Given the description of an element on the screen output the (x, y) to click on. 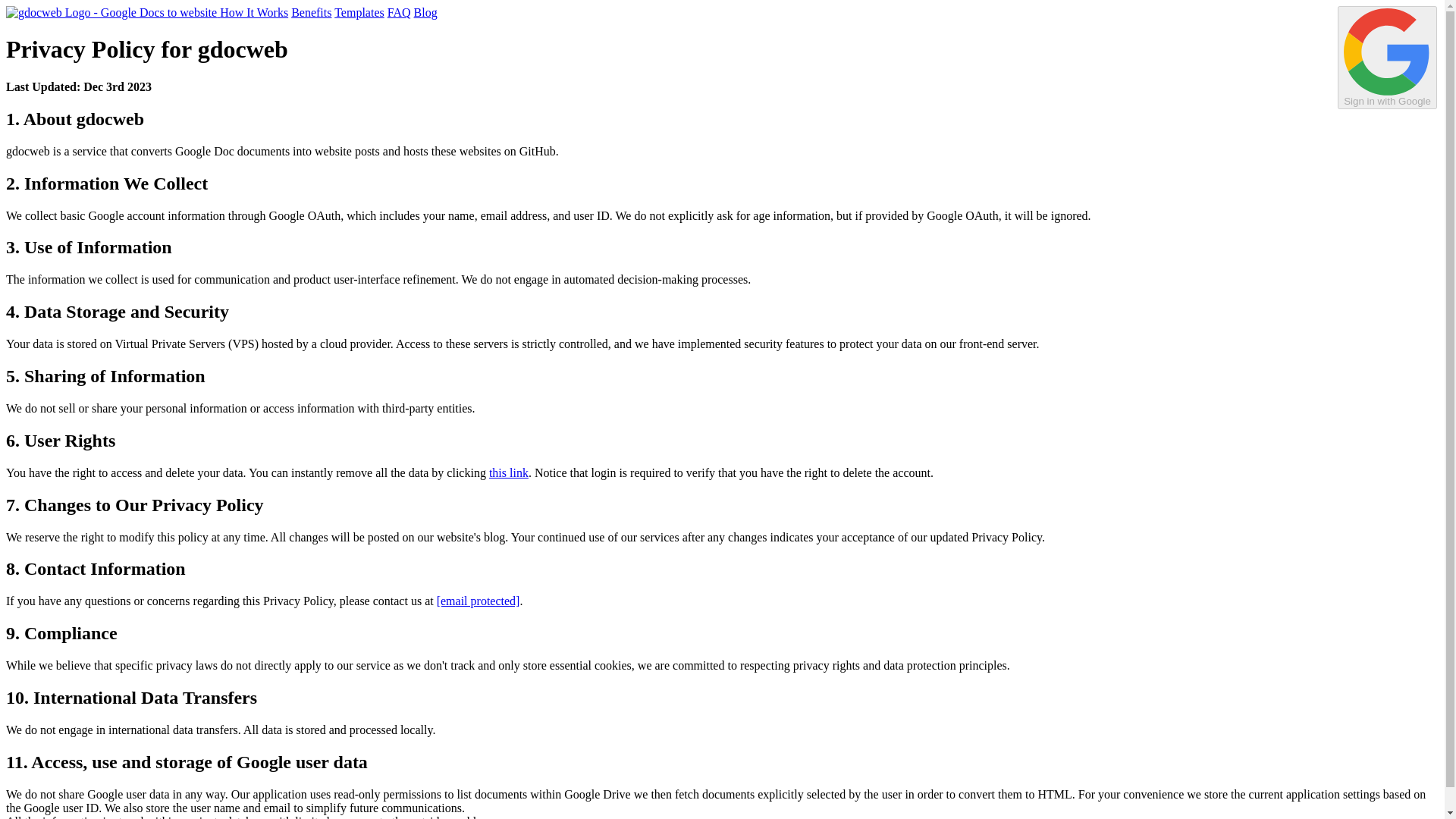
this link (508, 472)
FAQ (398, 11)
Blog (425, 11)
Templates (359, 11)
Benefits (311, 11)
How It Works (253, 11)
